Given the description of an element on the screen output the (x, y) to click on. 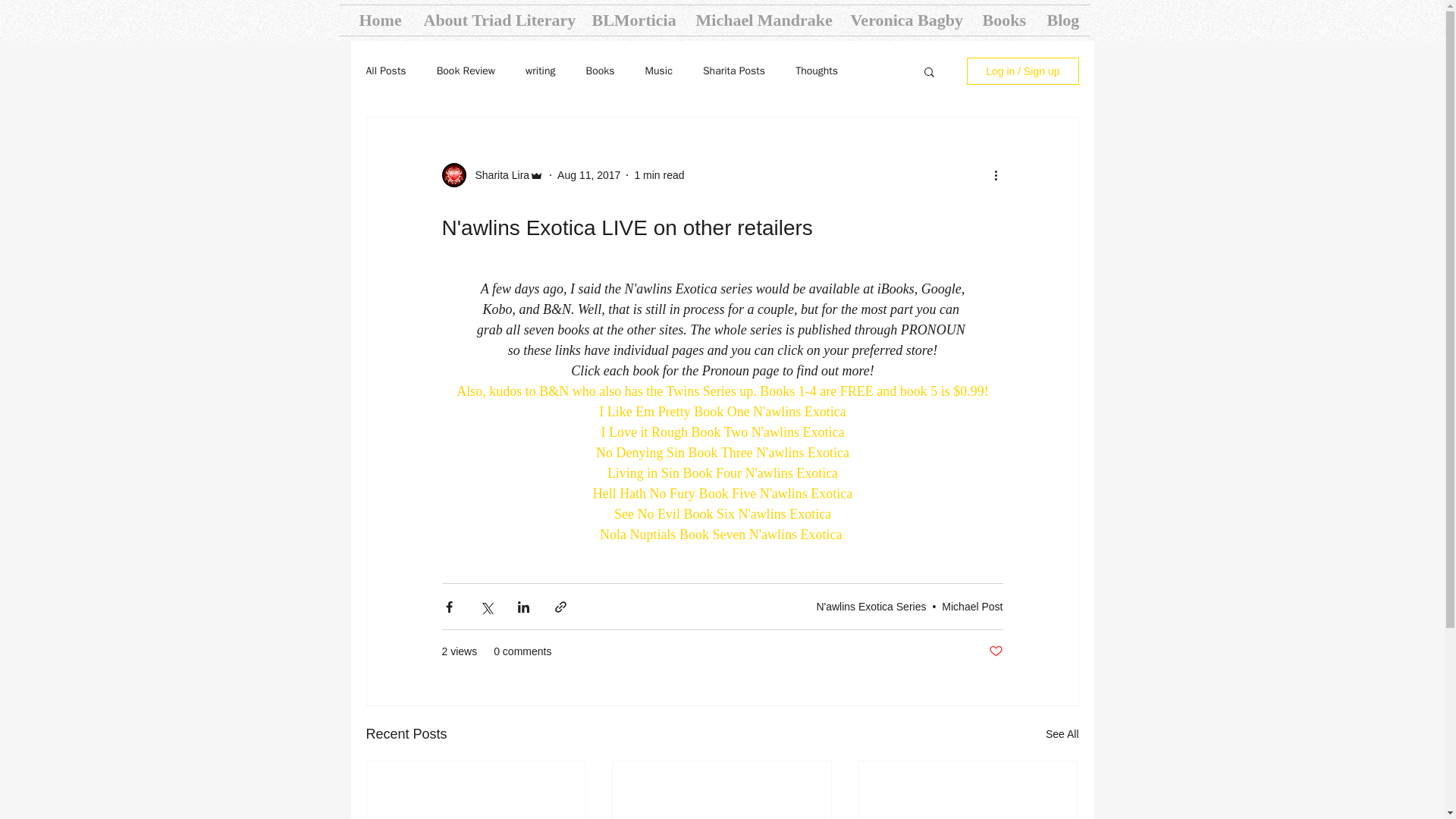
1 min read (658, 174)
Veronica Bagby (904, 20)
Home (379, 20)
About Triad Literary (496, 20)
Books (1003, 20)
Blog (1062, 20)
Book Review (465, 70)
Aug 11, 2017 (588, 174)
writing (539, 70)
Sharita Lira (497, 174)
